Given the description of an element on the screen output the (x, y) to click on. 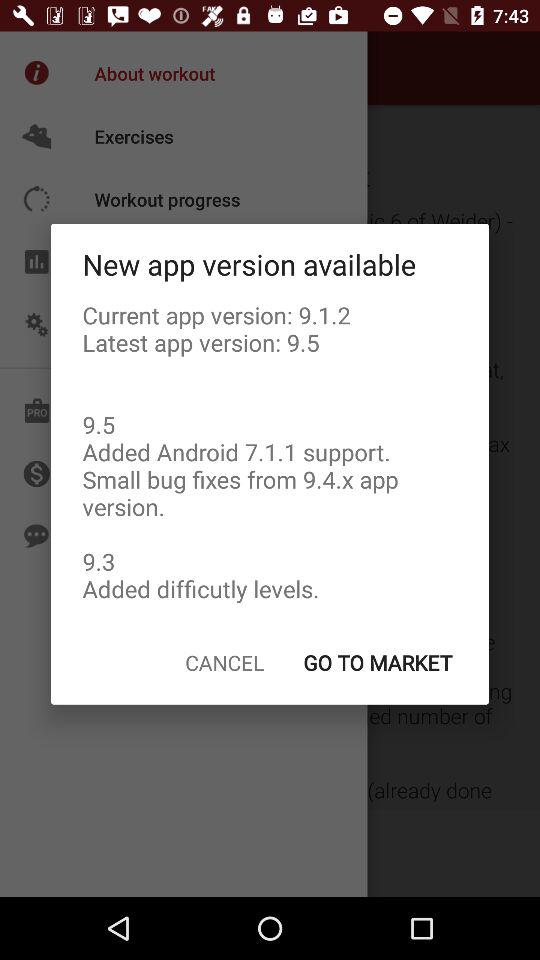
open go to market (377, 662)
